Given the description of an element on the screen output the (x, y) to click on. 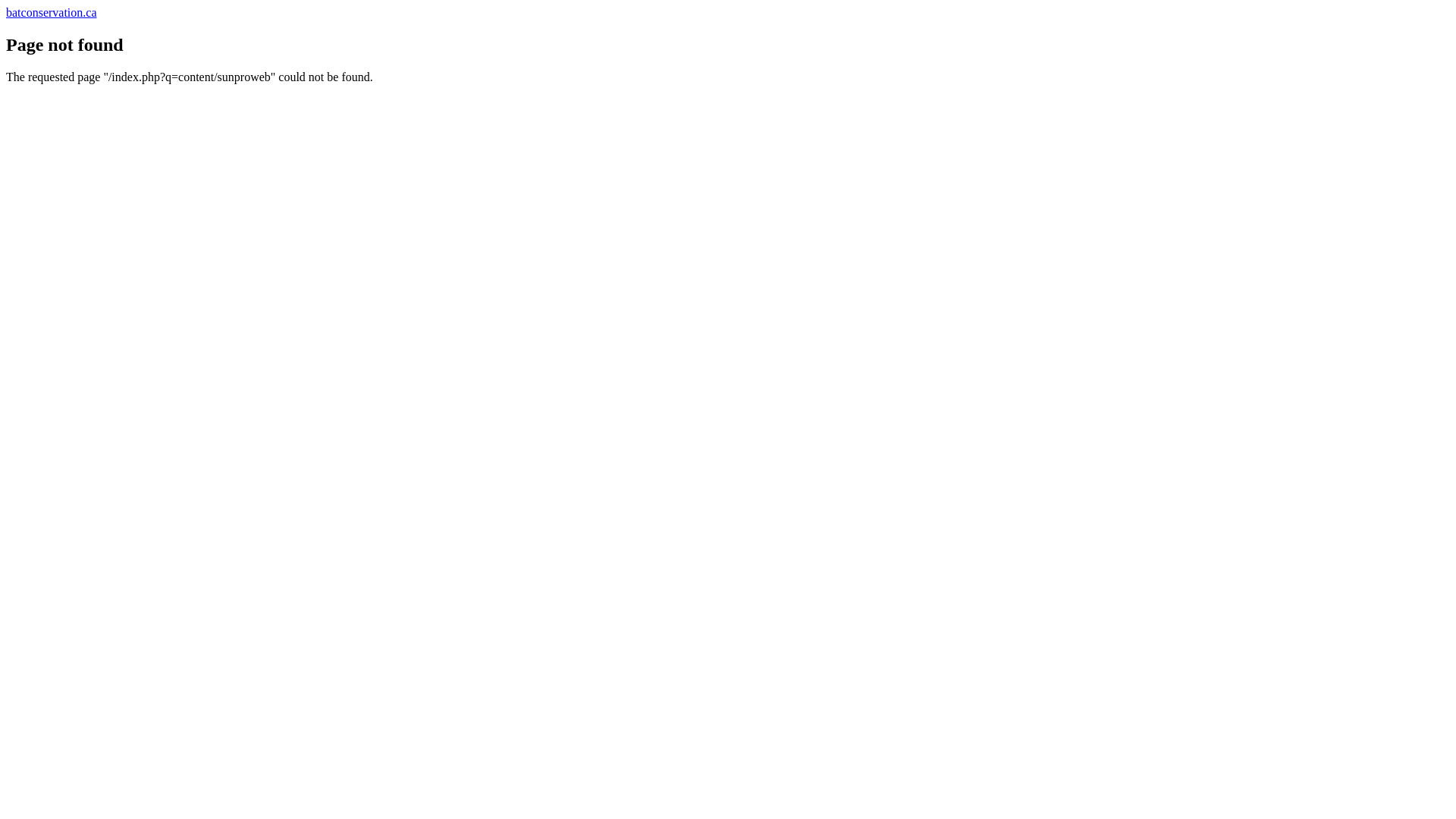
batconservation.ca Element type: text (51, 12)
